Given the description of an element on the screen output the (x, y) to click on. 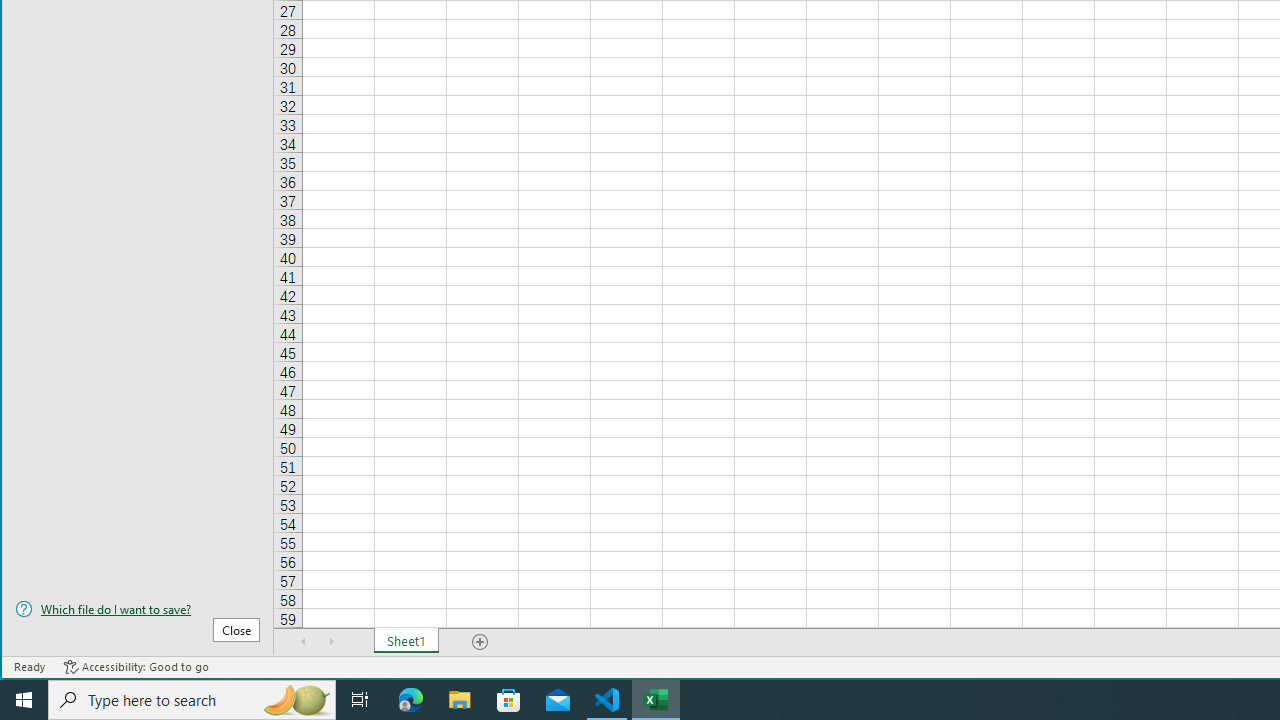
Visual Studio Code - 1 running window (607, 699)
Microsoft Edge (411, 699)
